Given the description of an element on the screen output the (x, y) to click on. 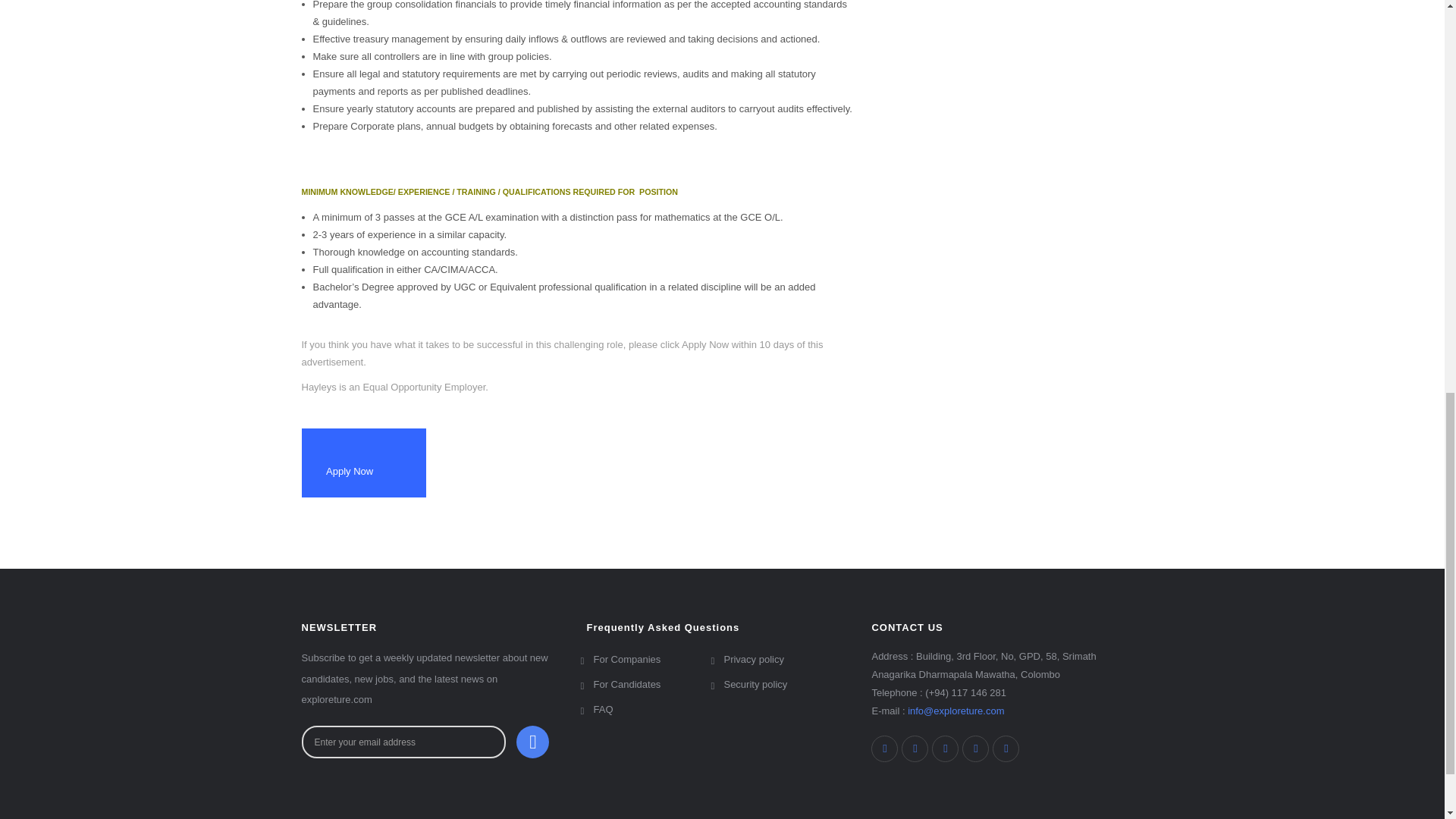
Enter your email address (403, 741)
